Given the description of an element on the screen output the (x, y) to click on. 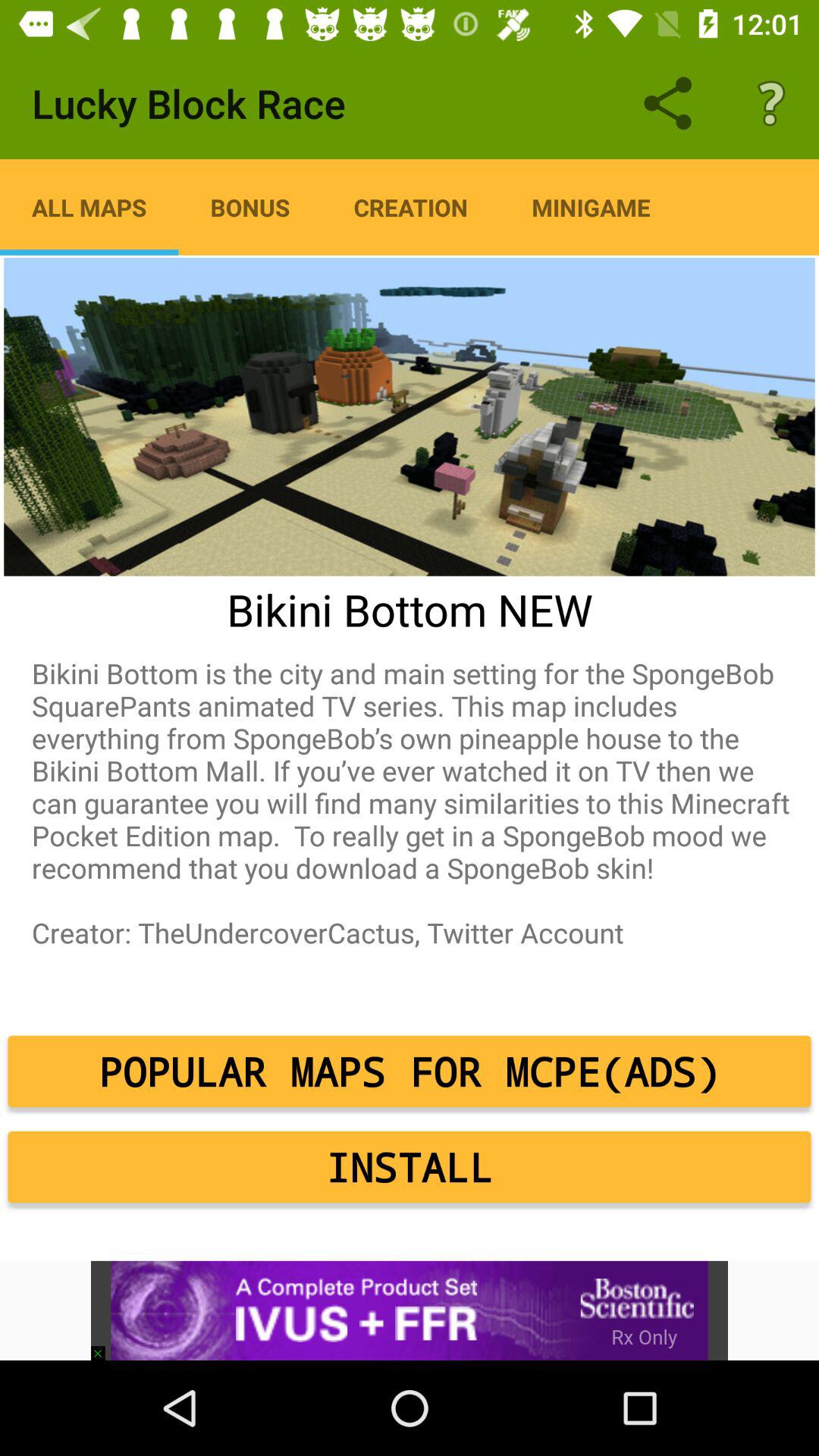
press the bonus app (249, 207)
